Given the description of an element on the screen output the (x, y) to click on. 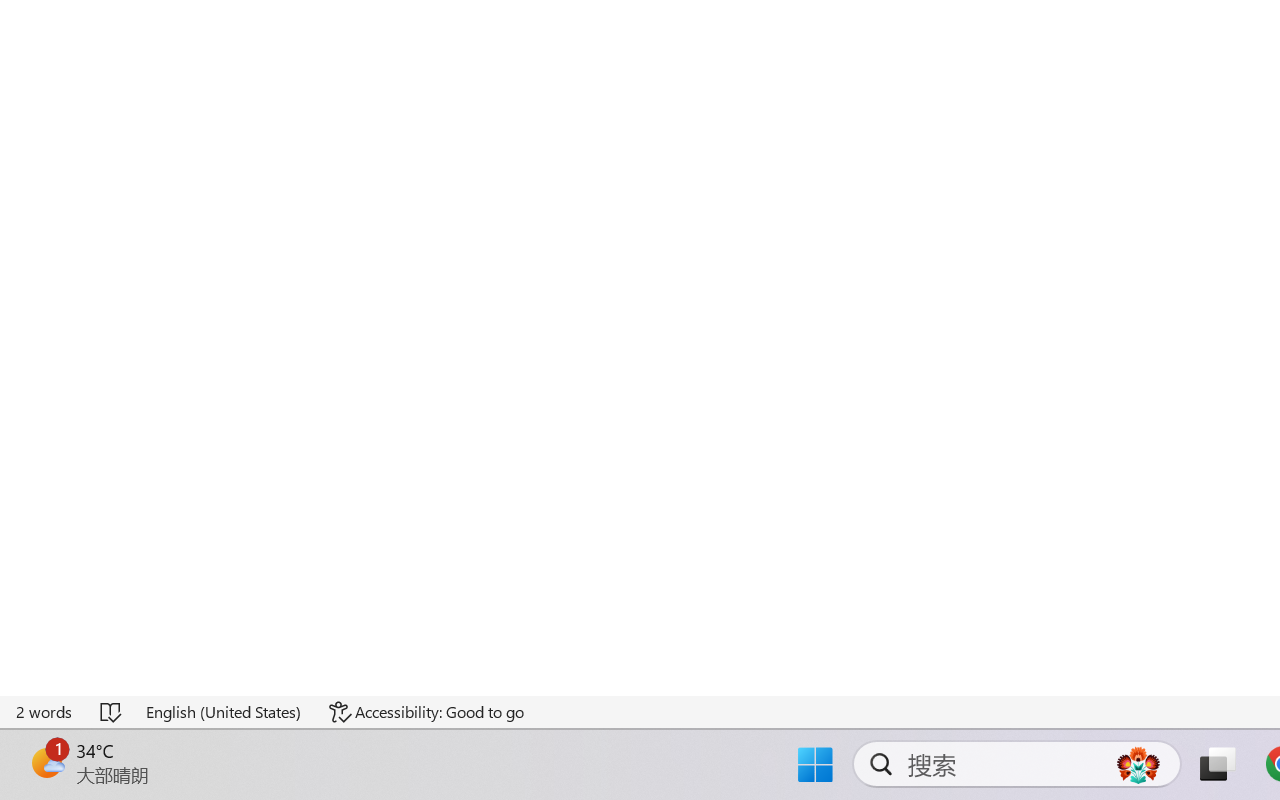
Accessibility Checker Accessibility: Good to go (426, 712)
AutomationID: DynamicSearchBoxGleamImage (1138, 764)
Language English (United States) (224, 712)
AutomationID: BadgeAnchorLargeTicker (46, 762)
Spelling and Grammar Check No Errors (112, 712)
Word Count 2 words (45, 712)
